Given the description of an element on the screen output the (x, y) to click on. 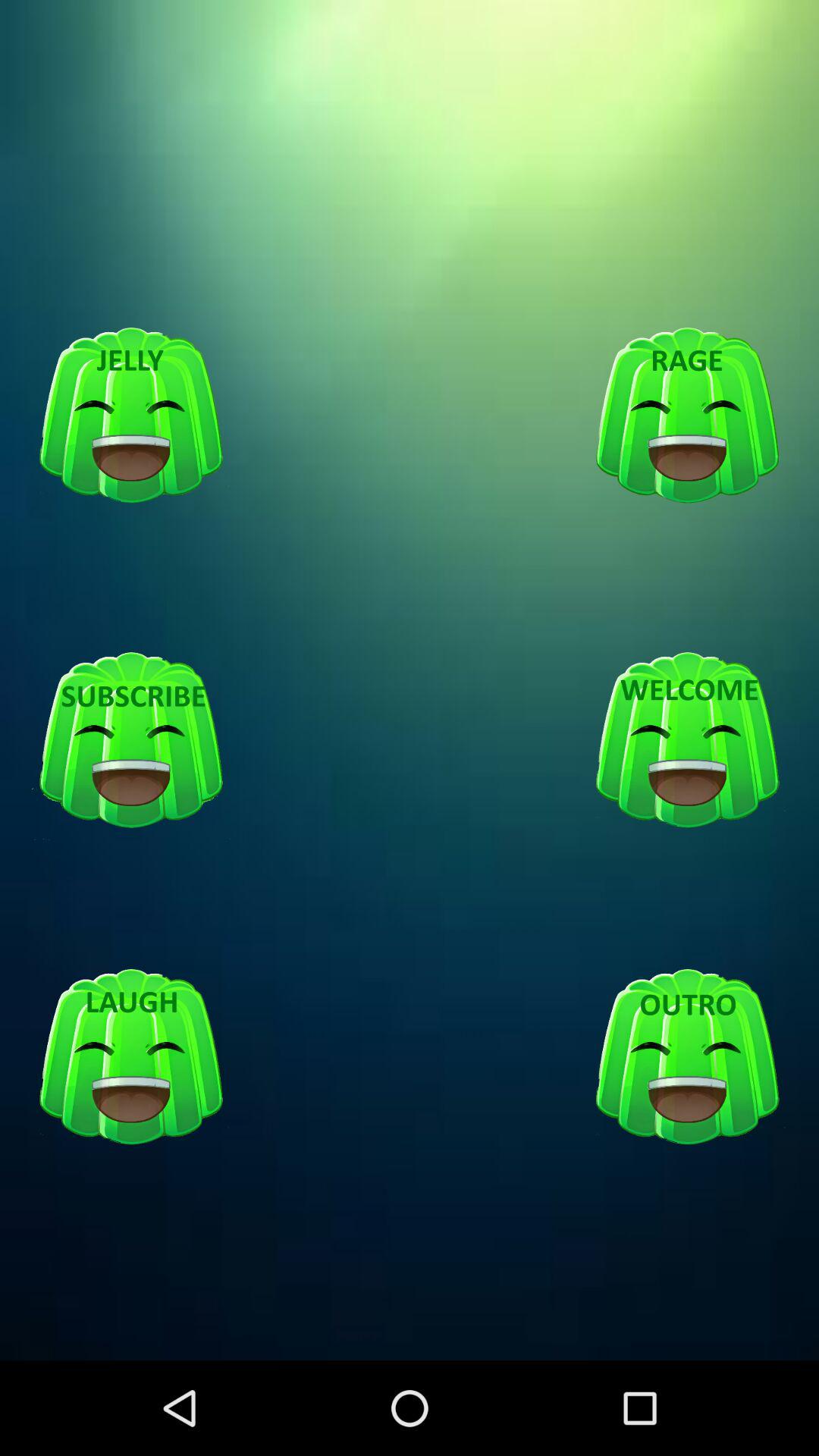
welcome icon (687, 740)
